Given the description of an element on the screen output the (x, y) to click on. 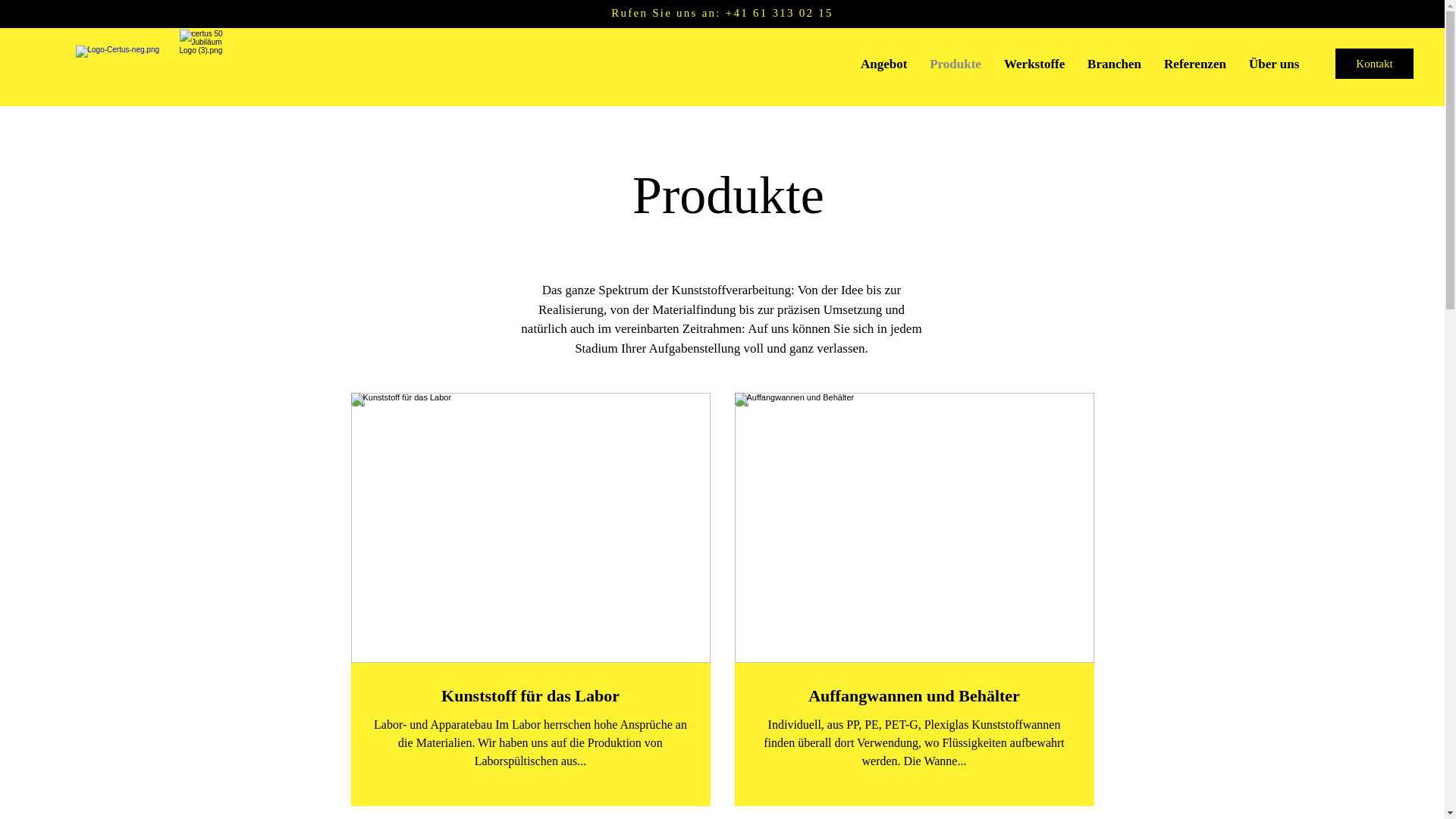
Referenzen Element type: text (1194, 64)
Werkstoffe Element type: text (1034, 64)
Produkte Element type: text (955, 64)
Angebot Element type: text (883, 64)
+41 61 313 02 15 Element type: text (779, 12)
Kontakt Element type: text (1374, 63)
Branchen Element type: text (1114, 64)
